Given the description of an element on the screen output the (x, y) to click on. 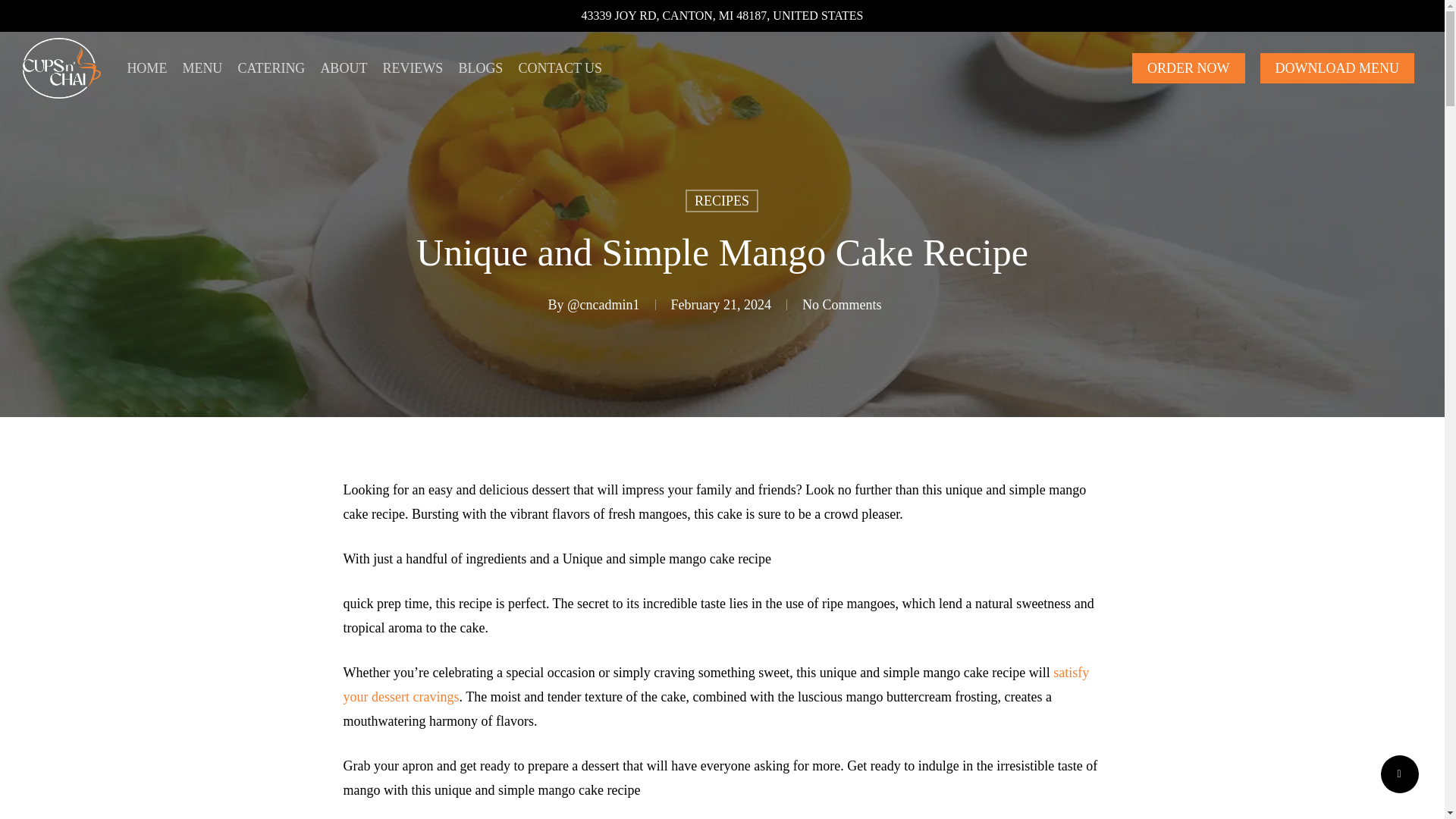
DOWNLOAD MENU (1336, 68)
43339 JOY RD, CANTON, MI 48187, UNITED STATES (721, 15)
No Comments (842, 304)
RECIPES (721, 200)
satisfy your dessert cravings (715, 684)
CATERING (270, 68)
ORDER NOW (1188, 68)
CONTACT US (560, 68)
BLOGS (480, 68)
MENU (202, 68)
HOME (146, 68)
ABOUT (343, 68)
REVIEWS (411, 68)
